Given the description of an element on the screen output the (x, y) to click on. 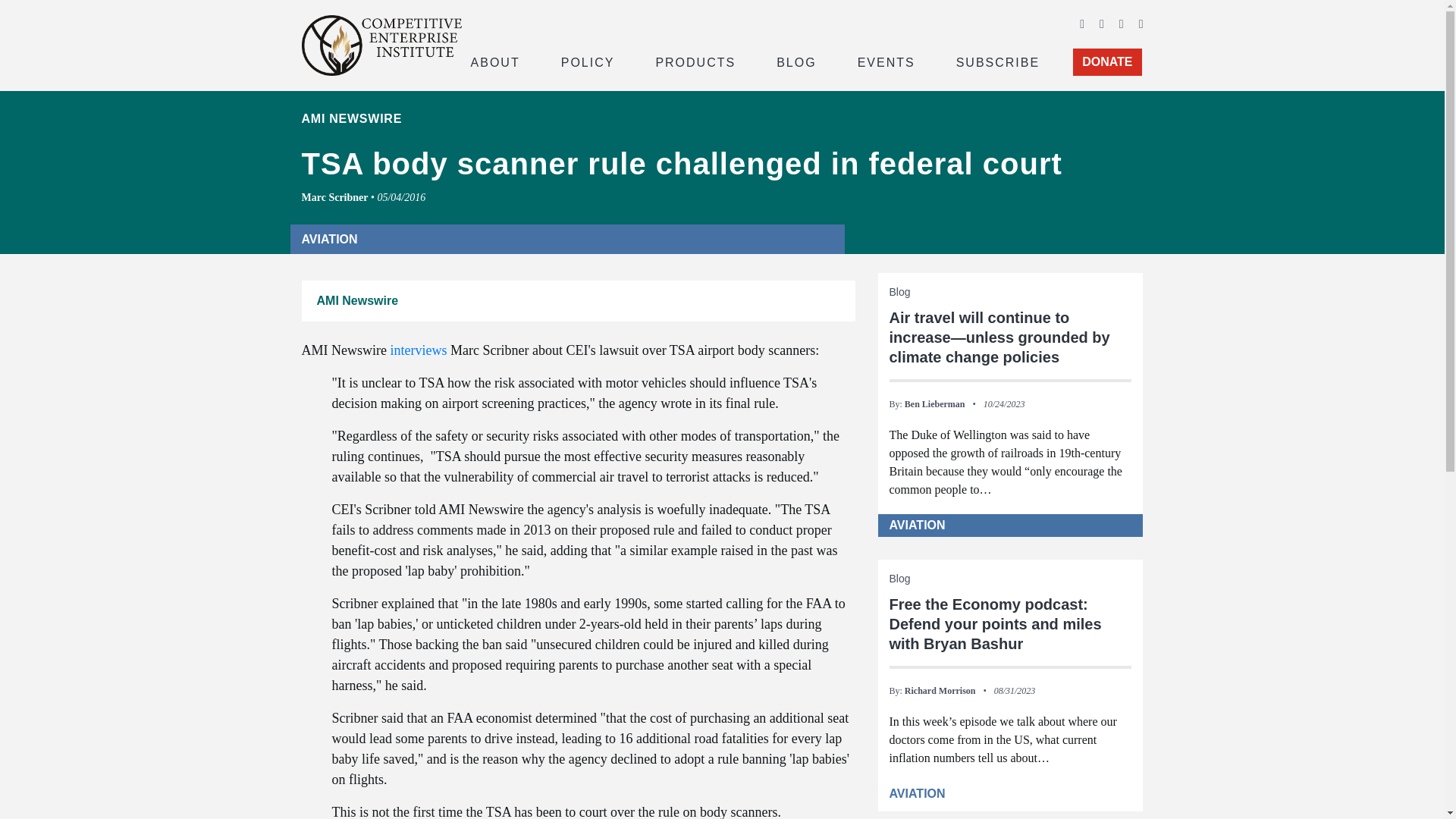
POLICY (588, 61)
PRODUCTS (694, 61)
DONATE (1107, 62)
SUBSCRIBE (997, 61)
ABOUT (495, 61)
EVENTS (886, 61)
BLOG (796, 61)
